Given the description of an element on the screen output the (x, y) to click on. 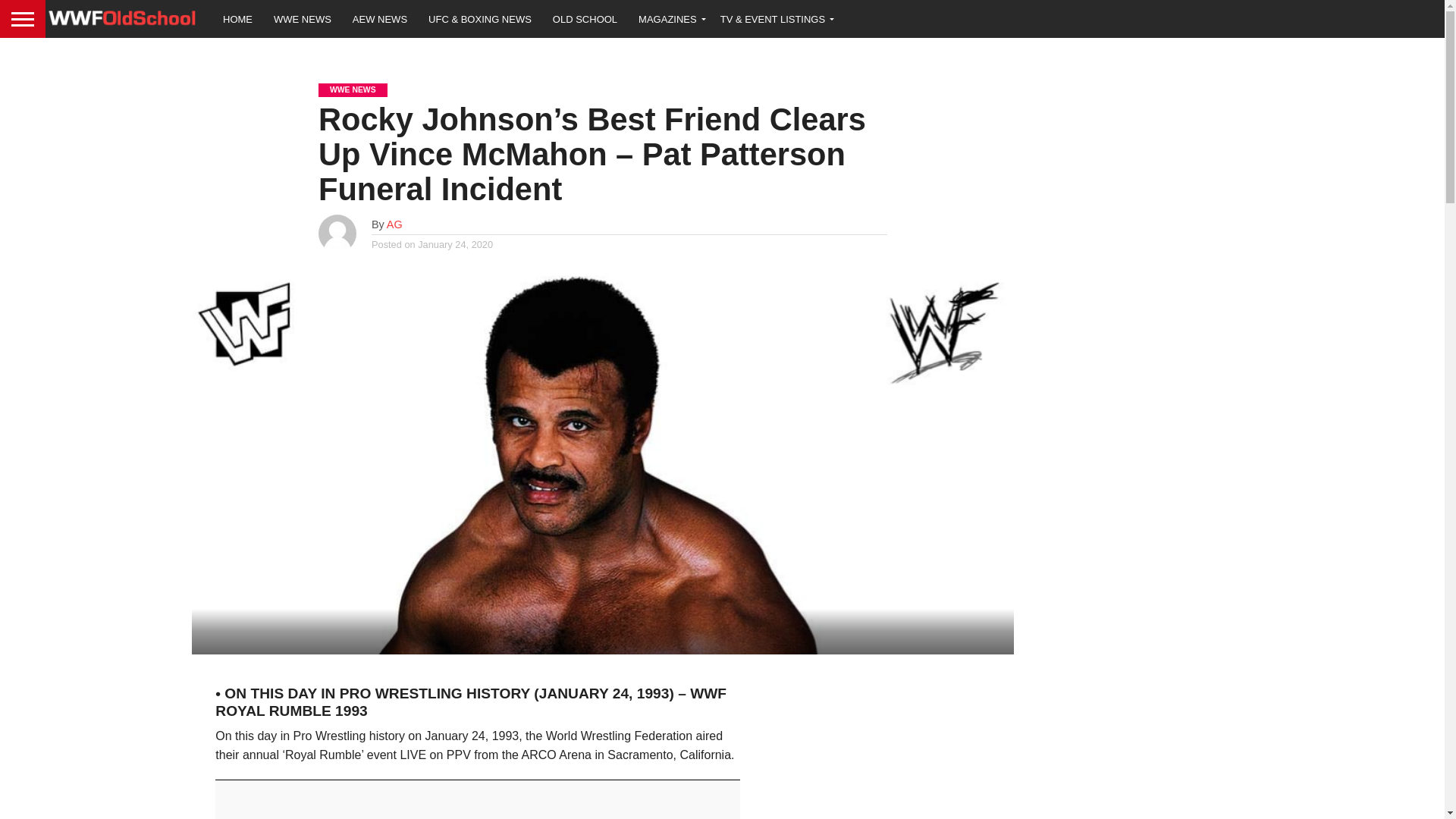
MAGAZINES (668, 18)
Posts by AG (395, 224)
WWE NEWS (302, 18)
OLD SCHOOL (584, 18)
HOME (237, 18)
AEW NEWS (379, 18)
